Given the description of an element on the screen output the (x, y) to click on. 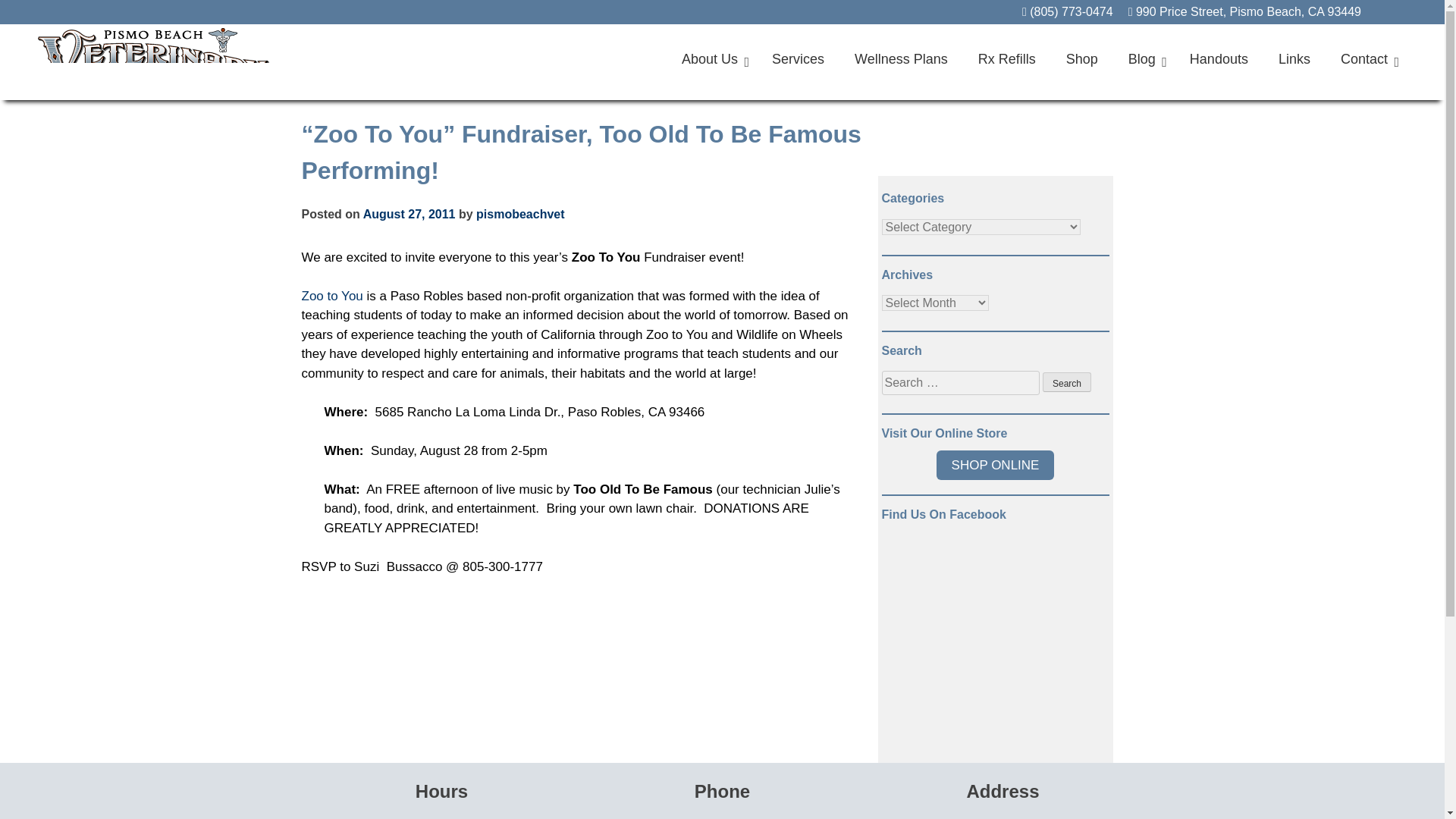
Contact (1365, 59)
Shop (1082, 59)
Search (1066, 382)
Wellness Plans (901, 59)
Search (1066, 382)
Links (1293, 59)
pismobeachvet (520, 214)
Zoo to You (331, 296)
SHOP ONLINE (995, 464)
Rx Refills (1006, 59)
990 Price Street, Pismo Beach, CA 93449 (1244, 11)
August 27, 2011 (408, 214)
About Us (711, 59)
Zoo to You (331, 296)
